Given the description of an element on the screen output the (x, y) to click on. 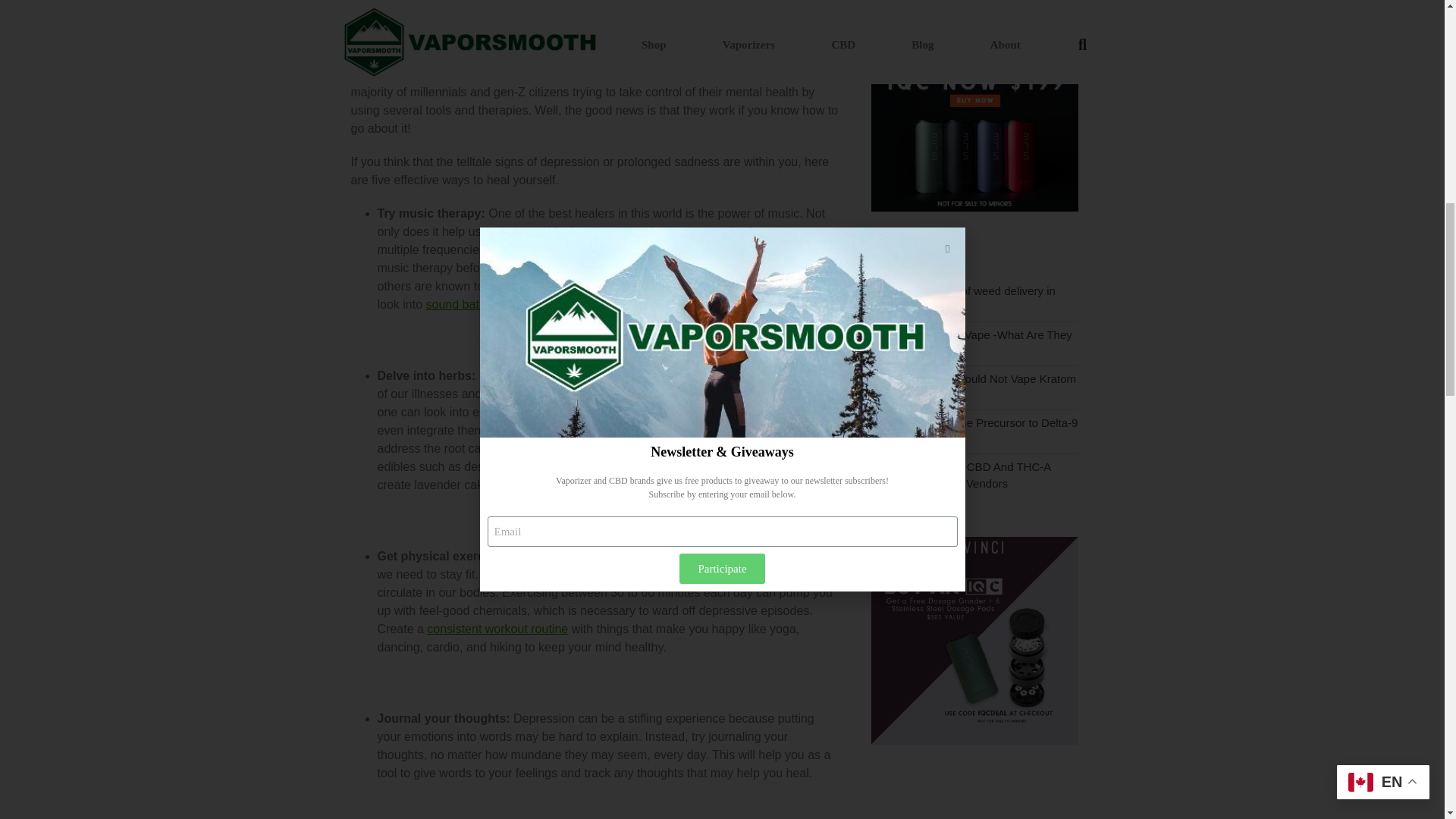
Davinci General (974, 739)
Davinci General (974, 206)
